Given the description of an element on the screen output the (x, y) to click on. 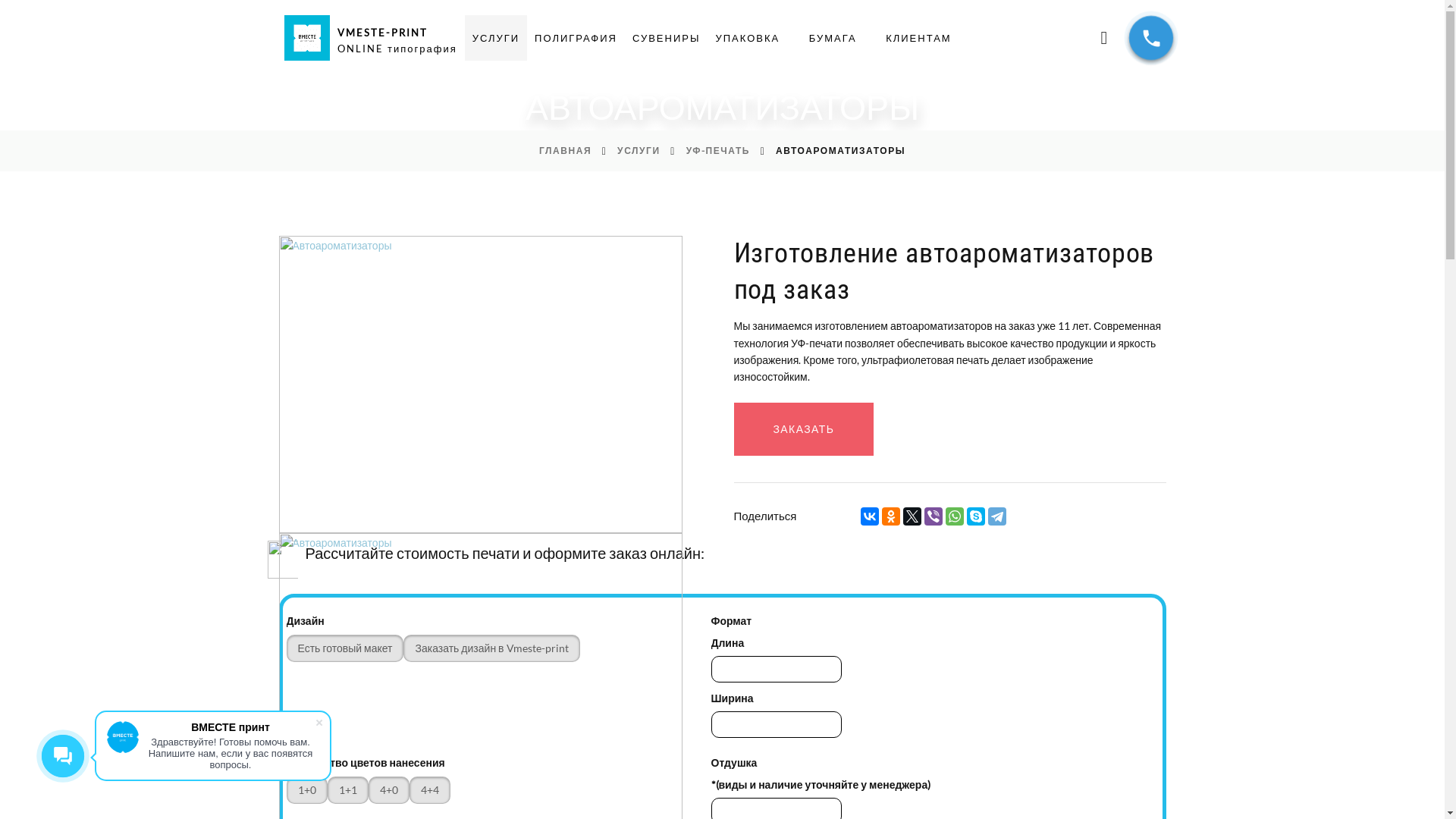
Skype Element type: hover (975, 516)
Twitter Element type: hover (912, 516)
Telegram Element type: hover (997, 516)
WhatsApp Element type: hover (954, 516)
Viber Element type: hover (933, 516)
